Given the description of an element on the screen output the (x, y) to click on. 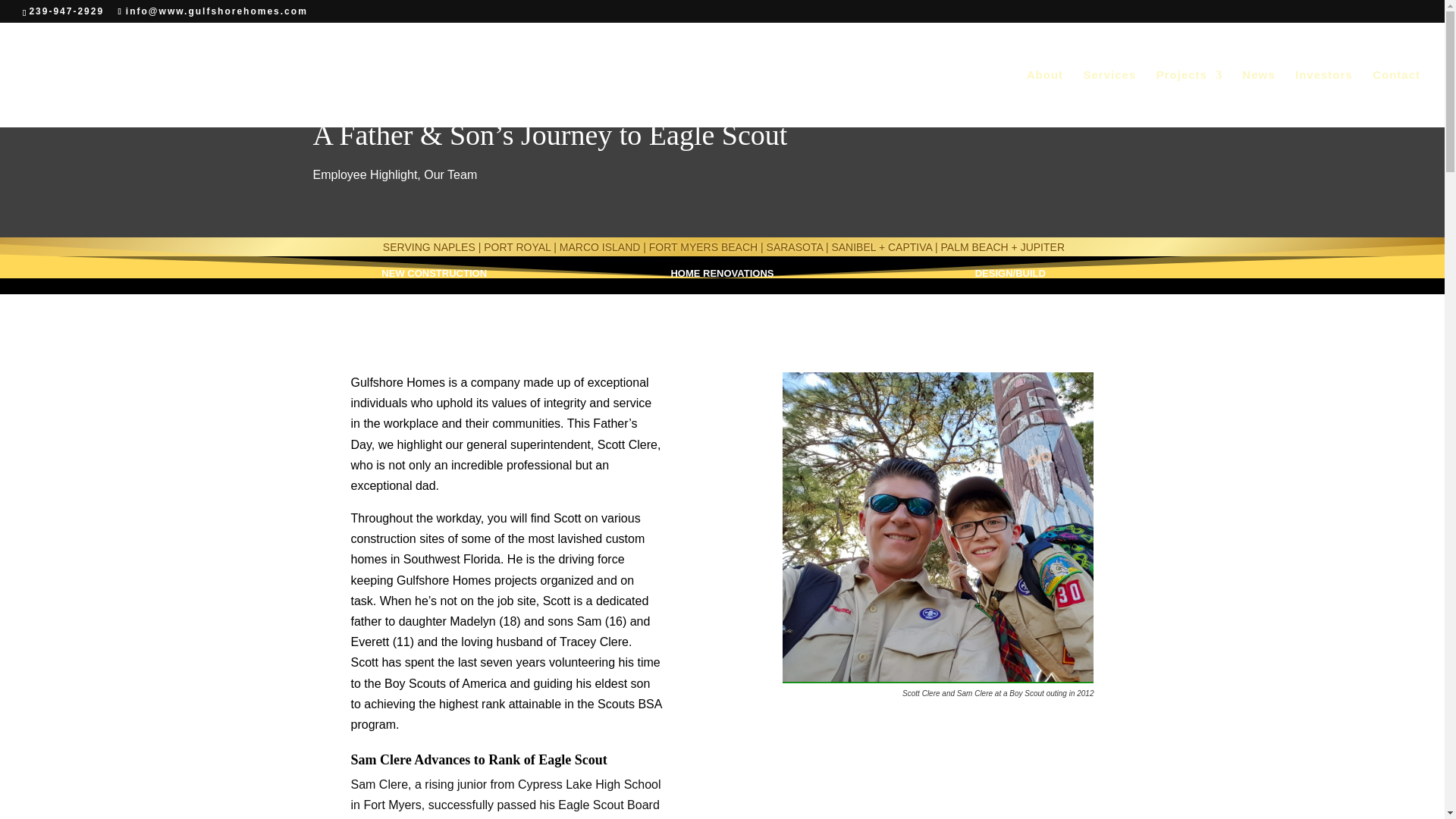
239-947-2929 (66, 10)
Our Team (450, 174)
Services (1110, 98)
Projects (1189, 98)
Employee Highlight (364, 174)
Investors (1323, 98)
Clere Article-4 (938, 527)
